Given the description of an element on the screen output the (x, y) to click on. 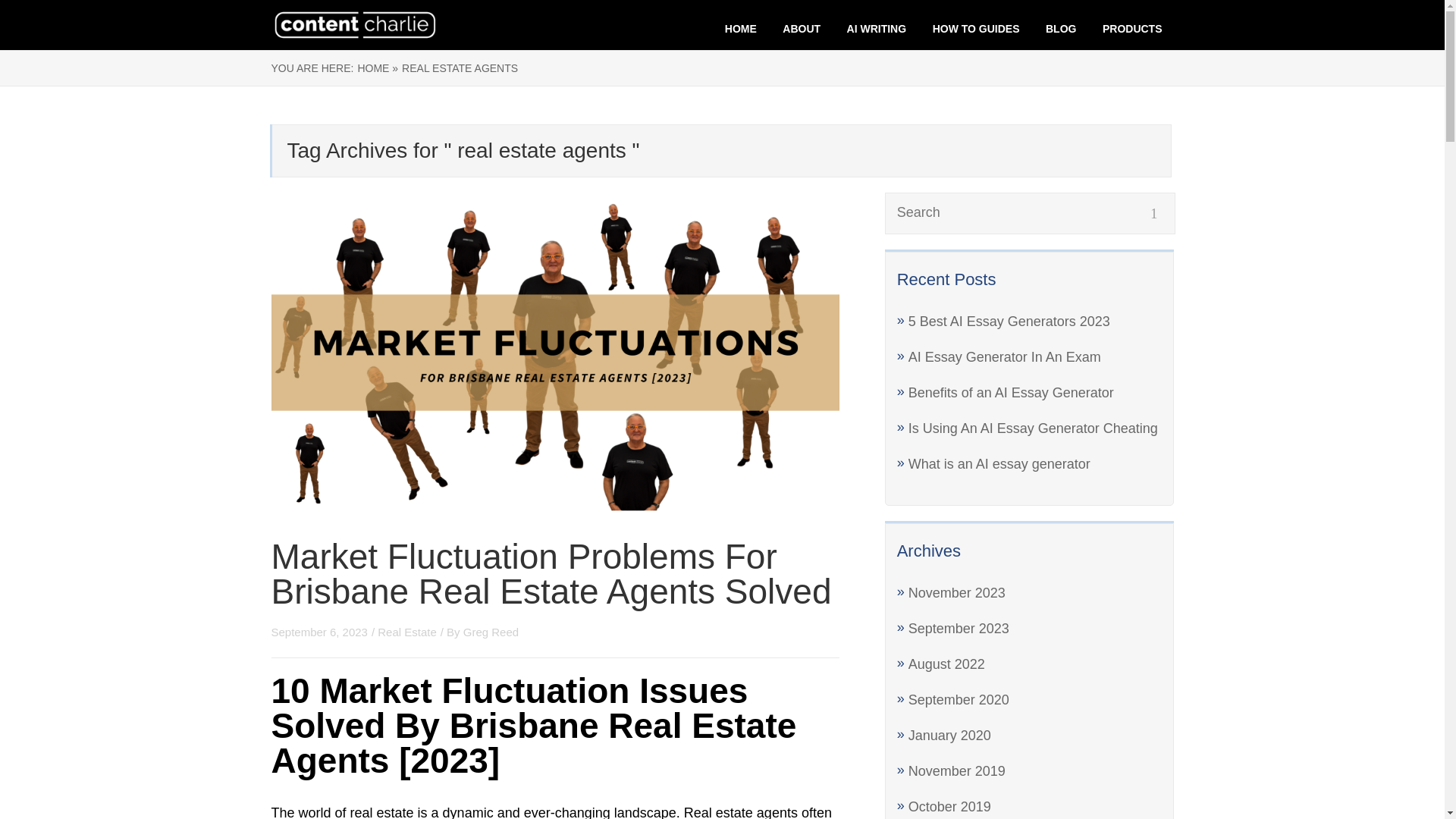
September 2020 (958, 699)
Benefits of an AI Essay Generator (1010, 392)
ABOUT (802, 28)
Is Using An AI Essay Generator Cheating (1032, 427)
November 2019 (957, 770)
What is an AI essay generator (999, 463)
Greg Reed (490, 631)
PRODUCTS (1131, 28)
AI Essay Generator In An Exam (1004, 356)
October 2019 (949, 806)
November 2023 (957, 592)
Real Estate (406, 631)
HOME (741, 28)
AI WRITING (877, 28)
